Given the description of an element on the screen output the (x, y) to click on. 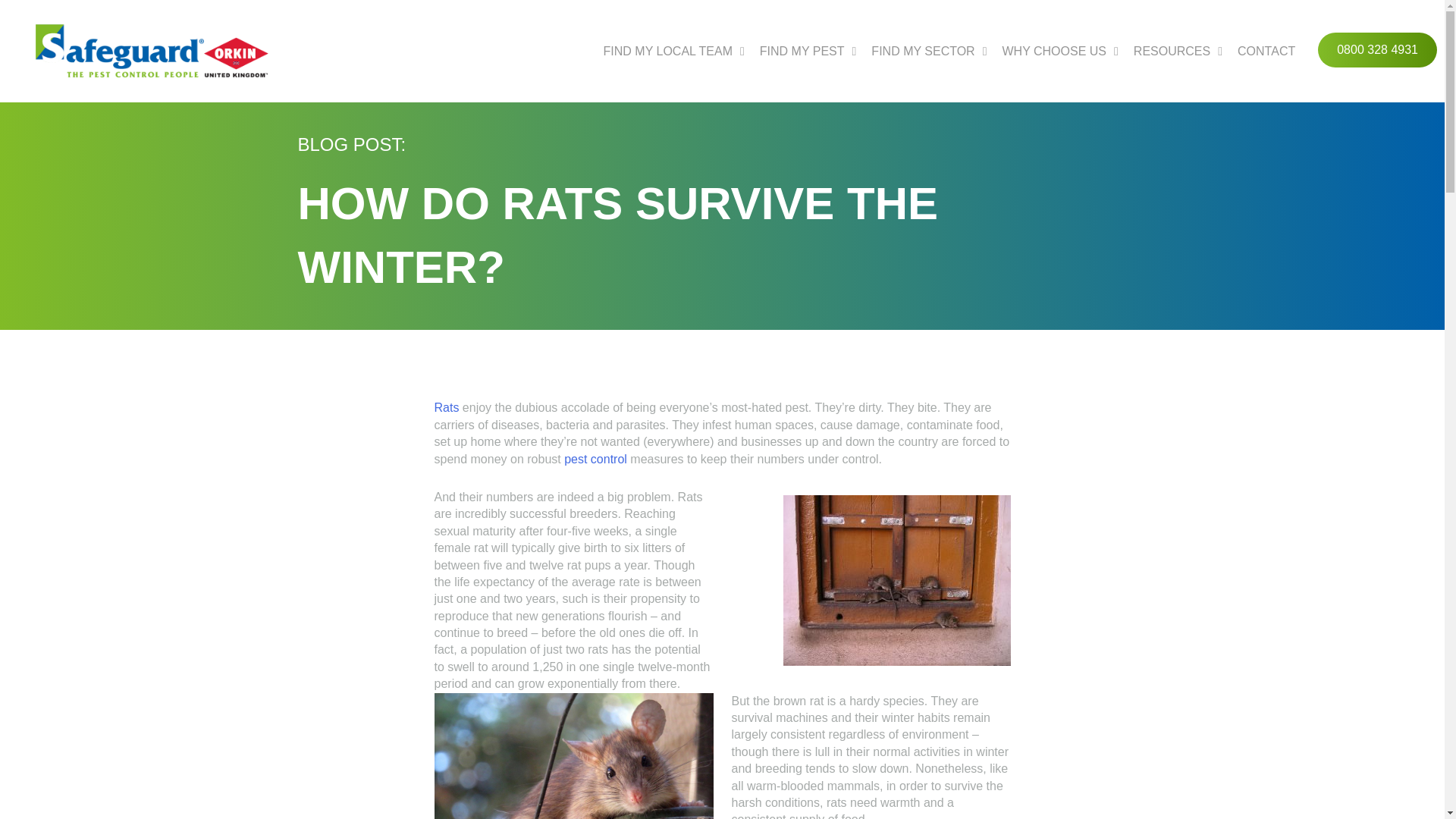
Brown Mouse l Pest Control Mid Devon (573, 755)
FIND MY LOCAL TEAM (673, 51)
rats winter safeguard pest control (896, 580)
